Given the description of an element on the screen output the (x, y) to click on. 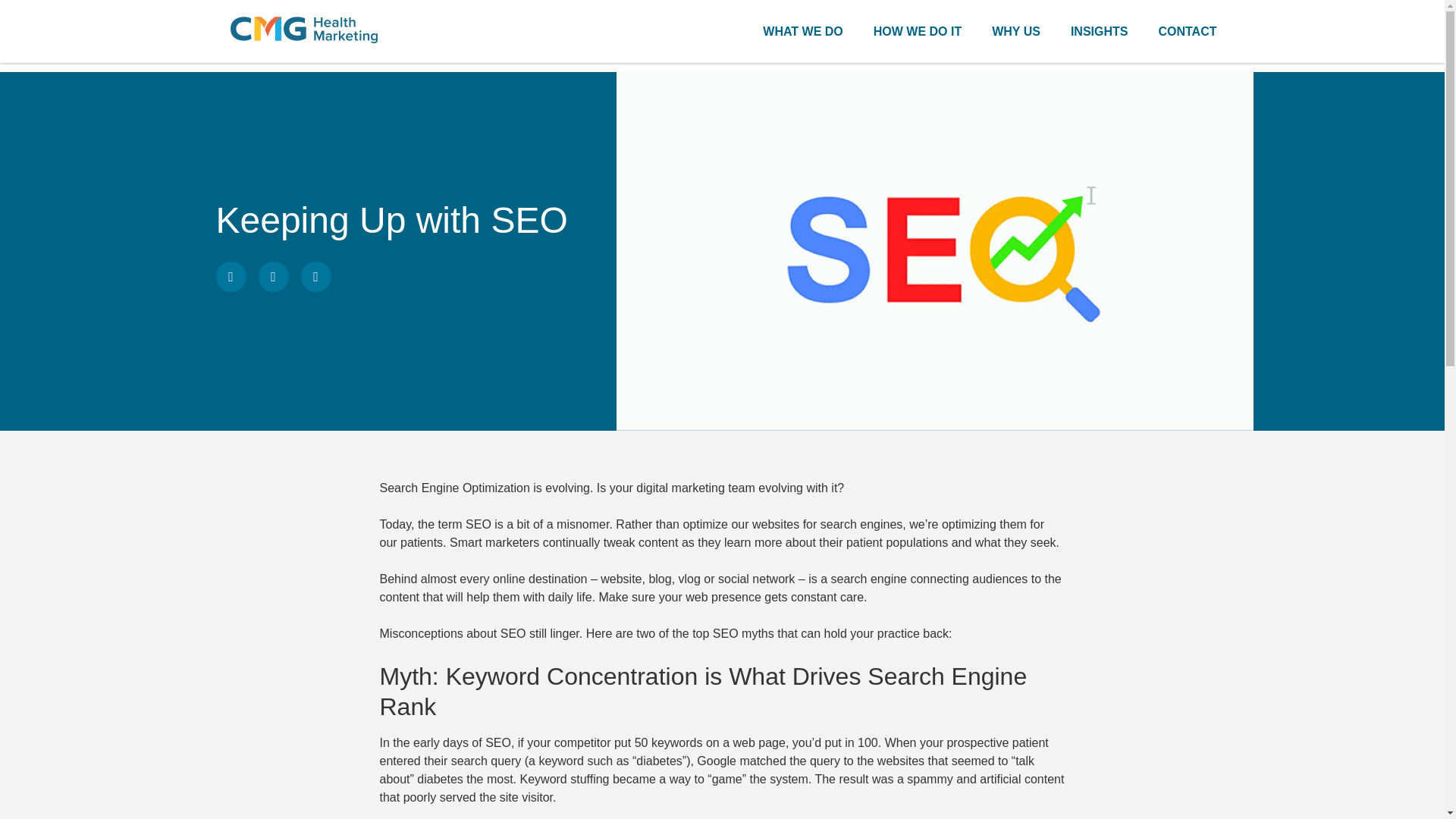
WHAT WE DO (802, 31)
LinkedIn (272, 276)
HOW WE DO IT (916, 31)
Facebook (230, 276)
WHY US (1016, 31)
INSIGHTS (1099, 31)
CONTACT (1186, 31)
Email (314, 276)
